Given the description of an element on the screen output the (x, y) to click on. 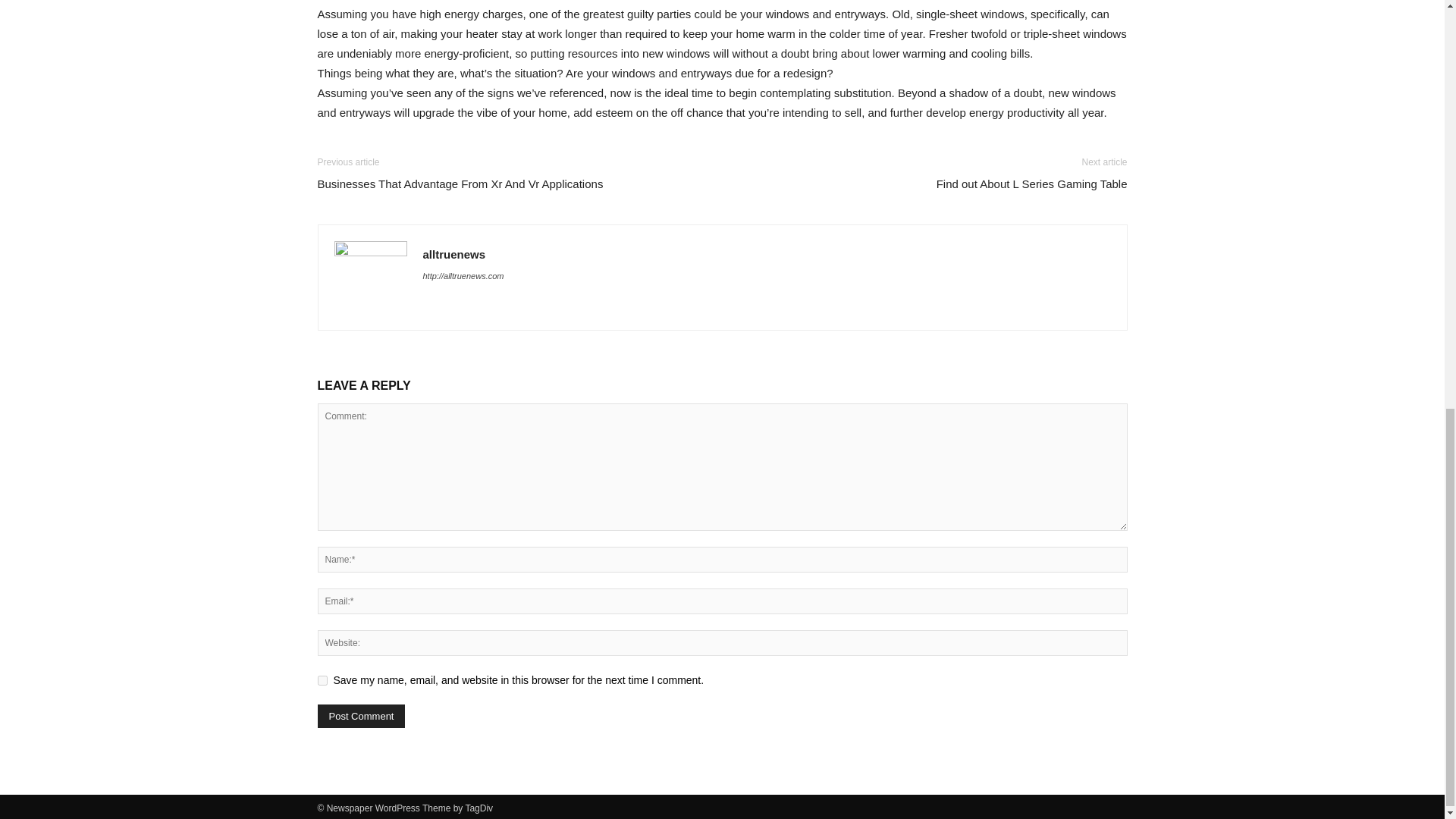
Businesses That Advantage From Xr And Vr Applications (459, 183)
Find out About L Series Gaming Table (1031, 183)
yes (321, 680)
Post Comment (360, 716)
alltruenews (454, 254)
Post Comment (360, 716)
